Given the description of an element on the screen output the (x, y) to click on. 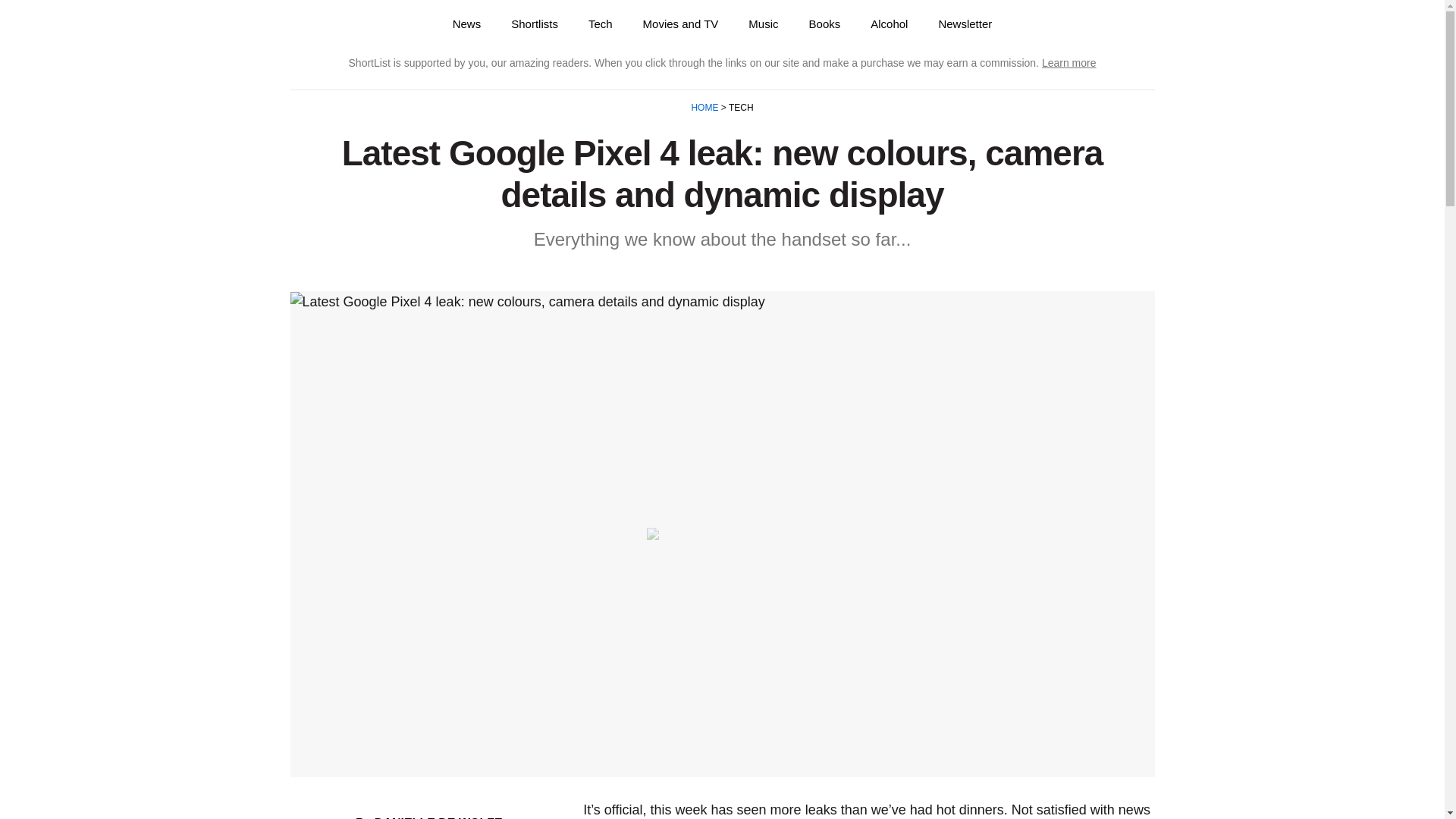
Learn more (1069, 62)
HOME (705, 107)
TECH (740, 107)
News (467, 23)
Tech (600, 23)
Shortlists (534, 23)
Newsletter (965, 23)
By DANIELLE DE WOLFE (428, 817)
Music (763, 23)
